Given the description of an element on the screen output the (x, y) to click on. 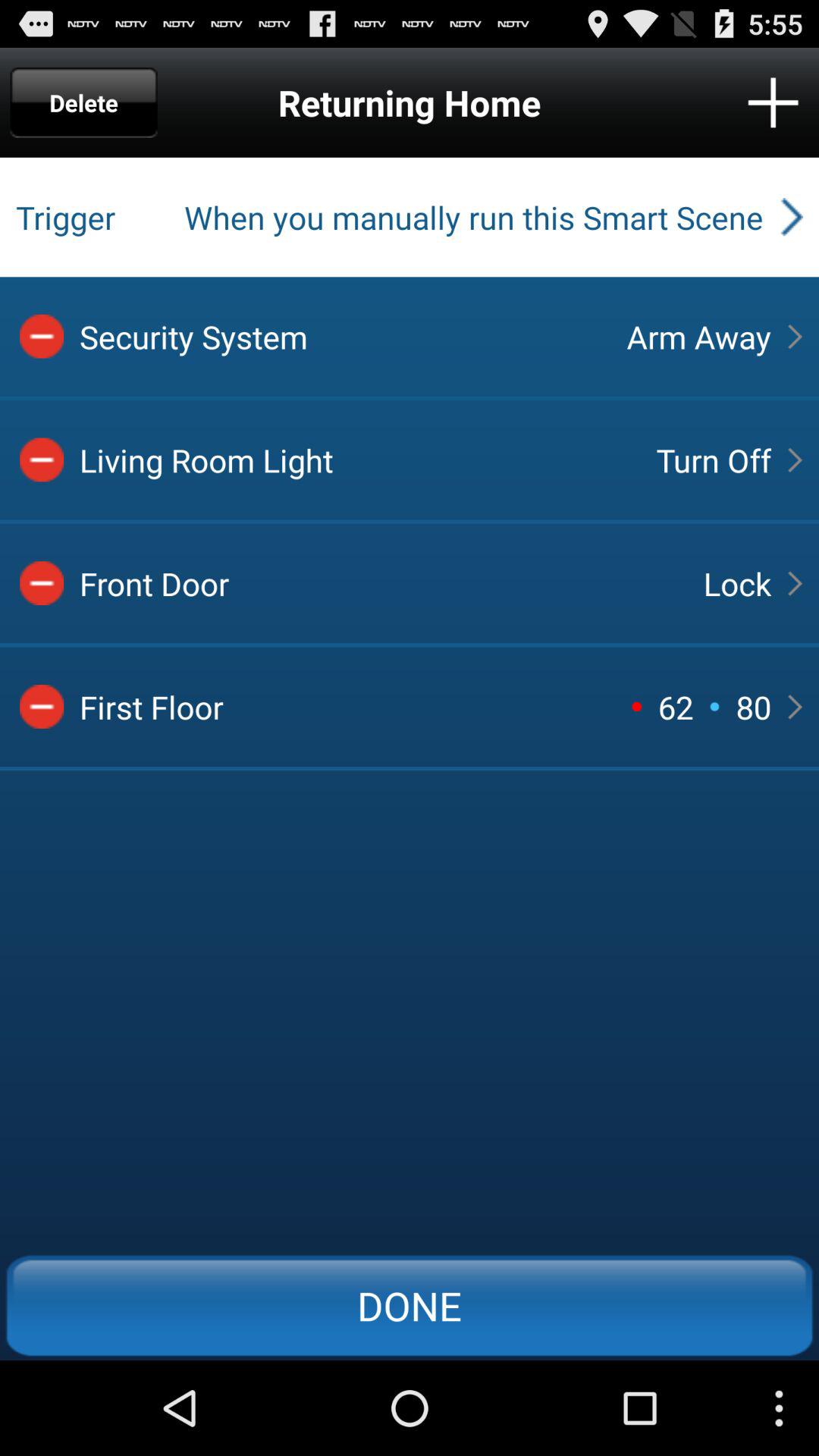
add more option (773, 102)
